Given the description of an element on the screen output the (x, y) to click on. 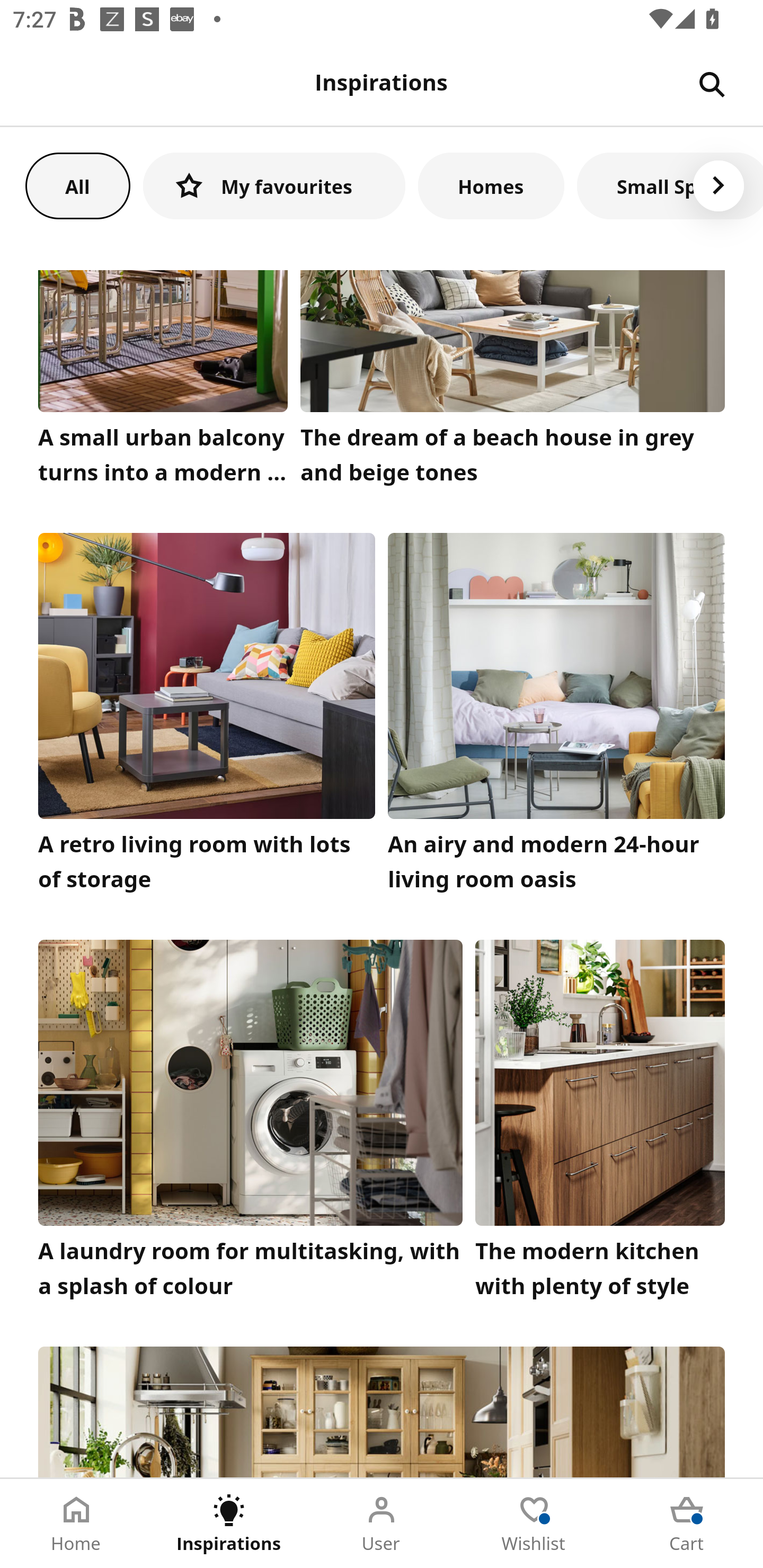
All (77, 185)
My favourites (274, 185)
Homes (491, 185)
Small Space (669, 185)
The dream of a beach house in grey and beige tones (512, 382)
A retro living room with lots of storage (206, 717)
An airy and modern 24-hour living room oasis (555, 717)
The modern kitchen with plenty of style (599, 1123)
Home
Tab 1 of 5 (76, 1522)
Inspirations
Tab 2 of 5 (228, 1522)
User
Tab 3 of 5 (381, 1522)
Wishlist
Tab 4 of 5 (533, 1522)
Cart
Tab 5 of 5 (686, 1522)
